Given the description of an element on the screen output the (x, y) to click on. 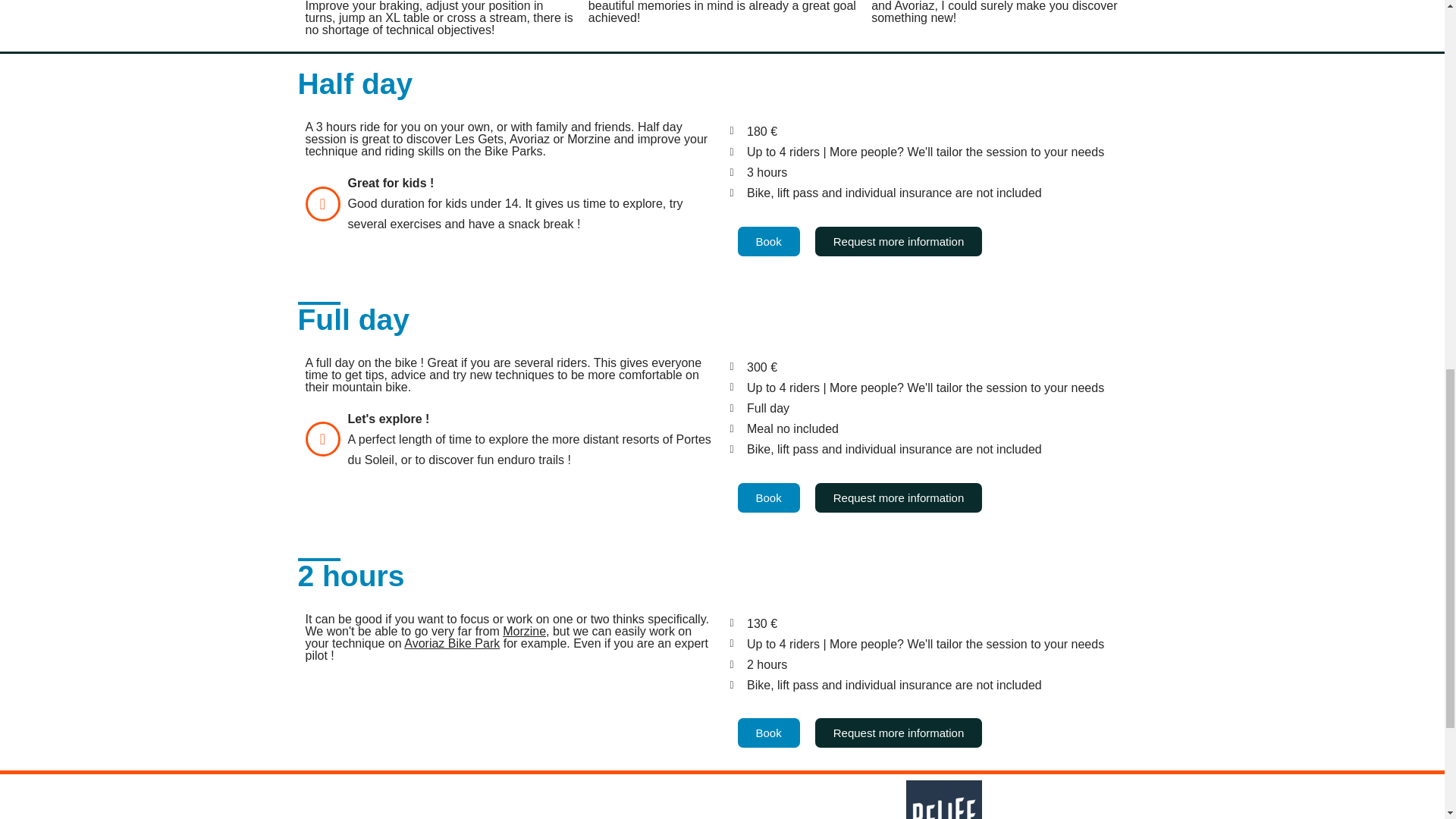
Book (767, 241)
Book (767, 497)
Request more information (898, 241)
Request more information (898, 497)
